Given the description of an element on the screen output the (x, y) to click on. 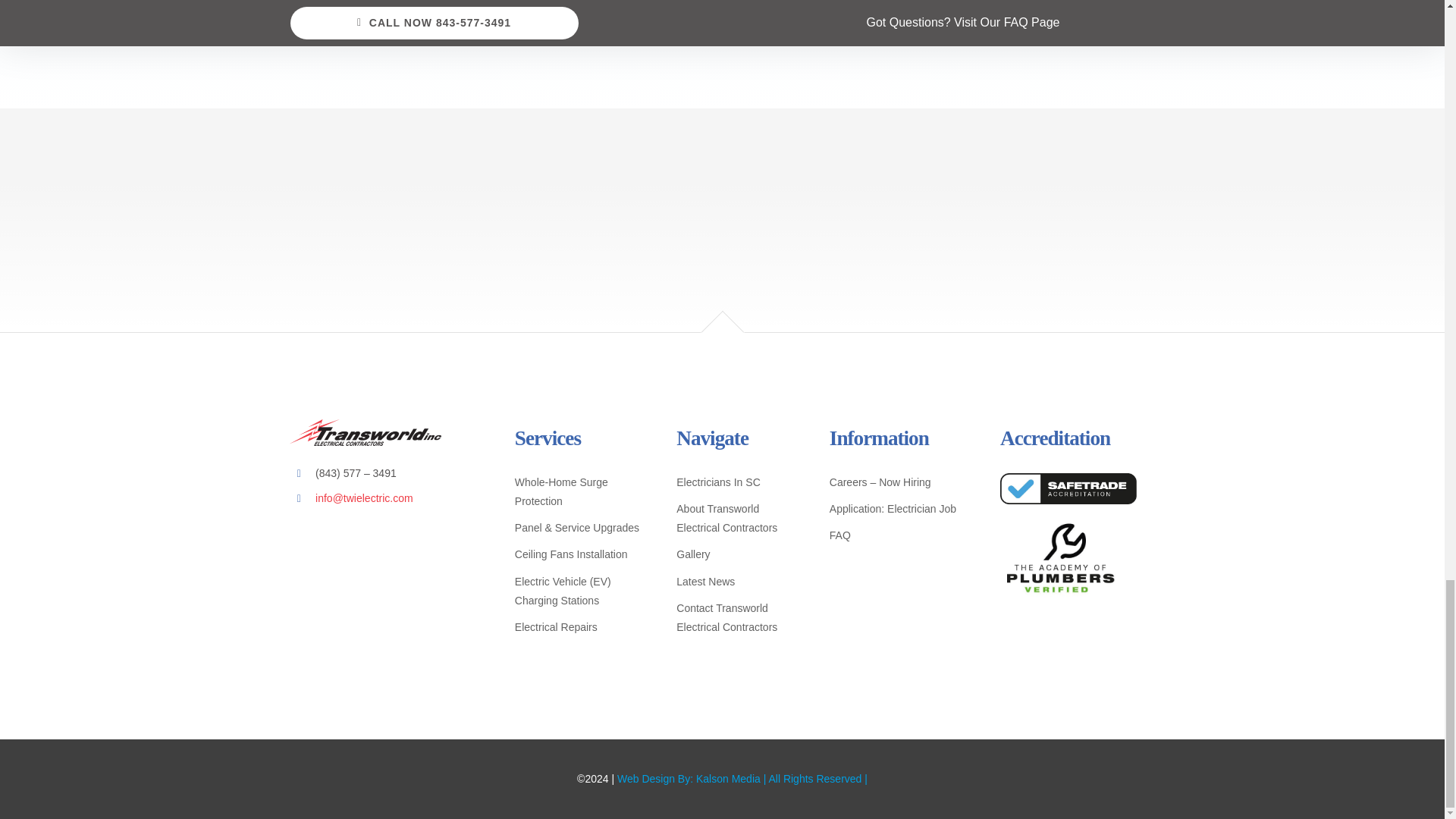
TWI-Logo (365, 432)
